Given the description of an element on the screen output the (x, y) to click on. 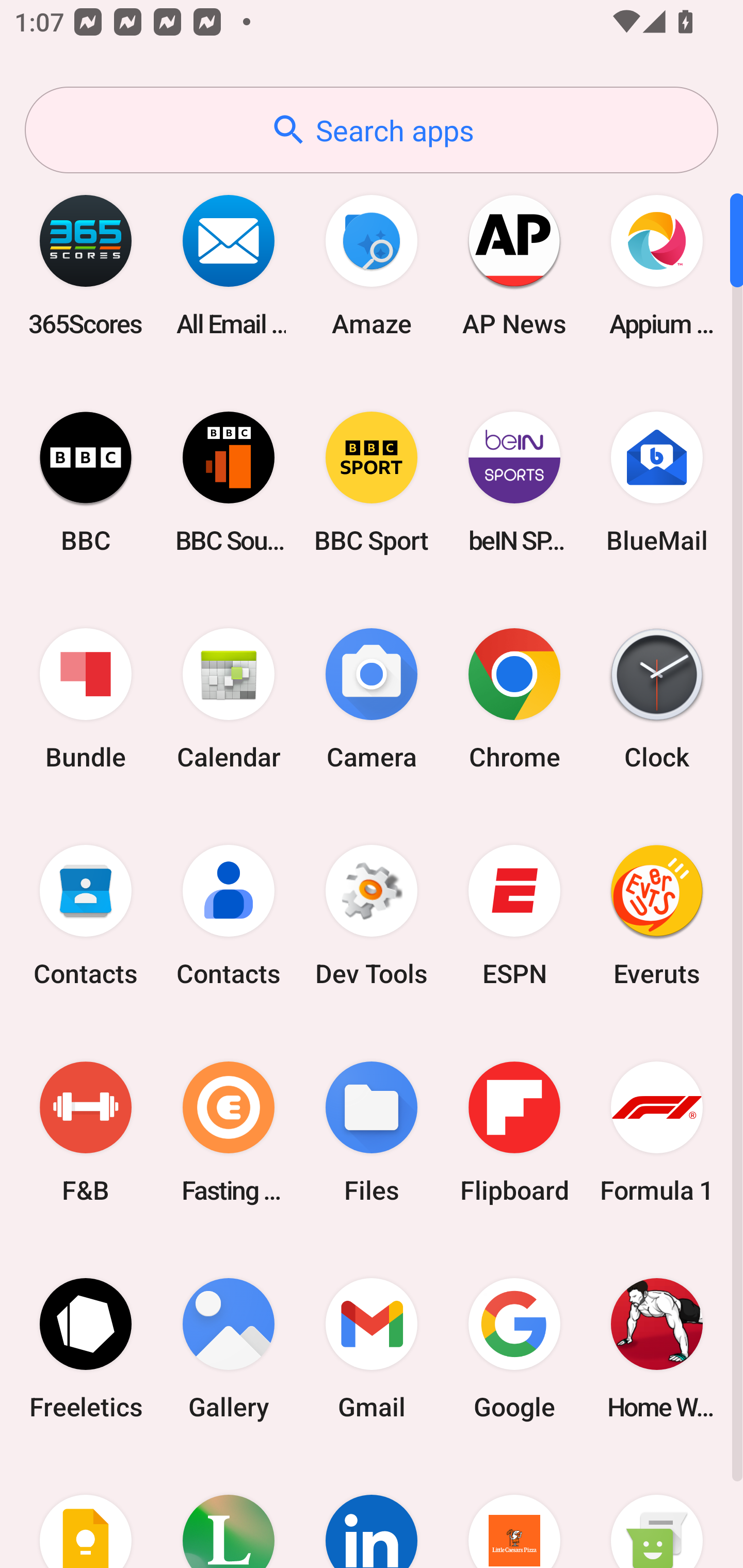
  Search apps (371, 130)
365Scores (85, 264)
All Email Connect (228, 264)
Amaze (371, 264)
AP News (514, 264)
Appium Settings (656, 264)
BBC (85, 482)
BBC Sounds (228, 482)
BBC Sport (371, 482)
beIN SPORTS (514, 482)
BlueMail (656, 482)
Bundle (85, 699)
Calendar (228, 699)
Camera (371, 699)
Chrome (514, 699)
Clock (656, 699)
Contacts (85, 915)
Contacts (228, 915)
Dev Tools (371, 915)
ESPN (514, 915)
Everuts (656, 915)
F&B (85, 1131)
Fasting Coach (228, 1131)
Files (371, 1131)
Flipboard (514, 1131)
Formula 1 (656, 1131)
Freeletics (85, 1348)
Gallery (228, 1348)
Gmail (371, 1348)
Google (514, 1348)
Home Workout (656, 1348)
Keep Notes (85, 1512)
Lifesum (228, 1512)
LinkedIn (371, 1512)
Little Caesars Pizza (514, 1512)
Messaging (656, 1512)
